Given the description of an element on the screen output the (x, y) to click on. 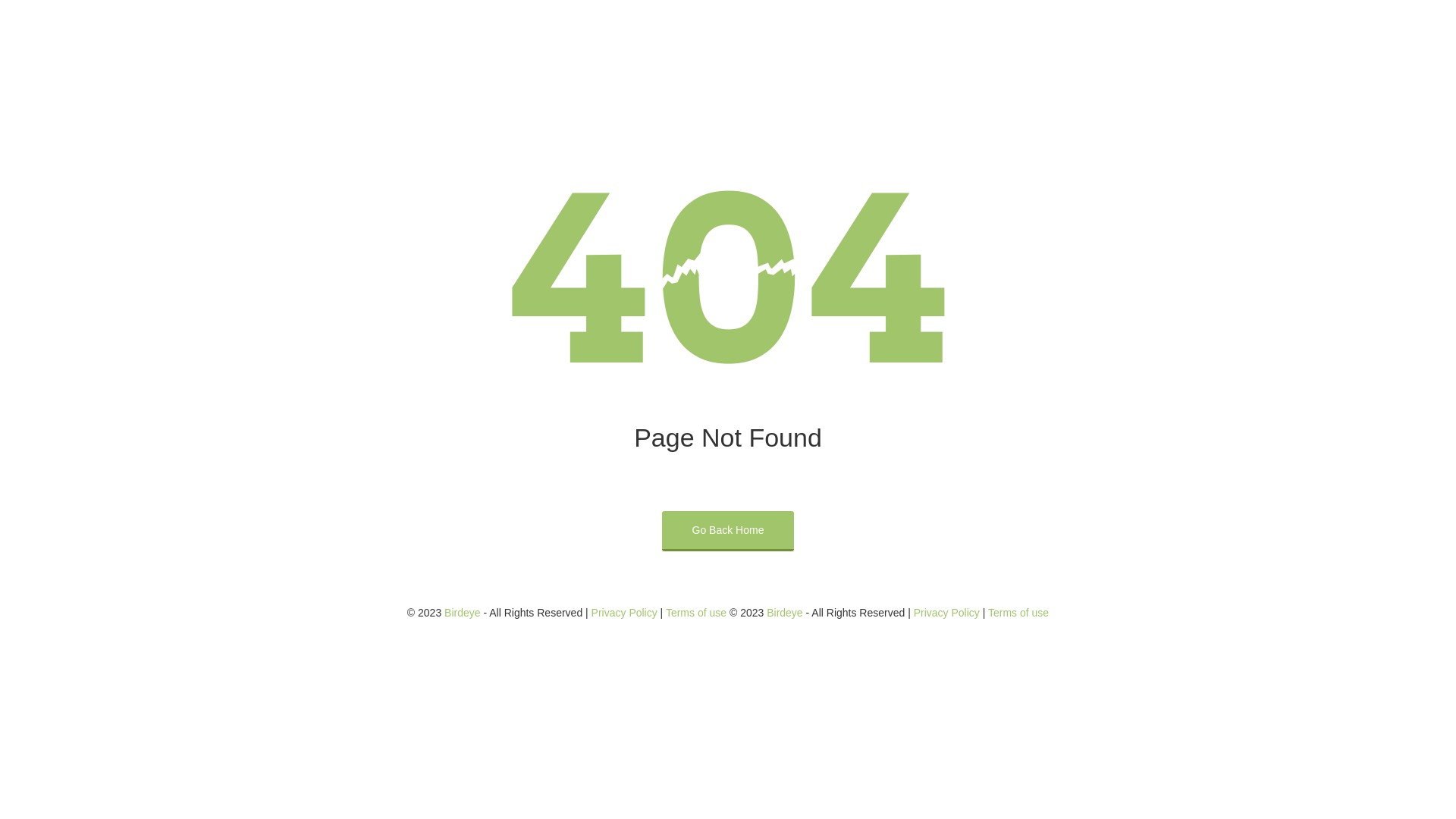
Birdeye Element type: text (784, 612)
Go Back Home Element type: text (728, 531)
Terms of use Element type: text (1018, 612)
Terms of use Element type: text (695, 612)
Birdeye Element type: text (462, 612)
Privacy Policy Element type: text (946, 612)
Privacy Policy Element type: text (624, 612)
